Given the description of an element on the screen output the (x, y) to click on. 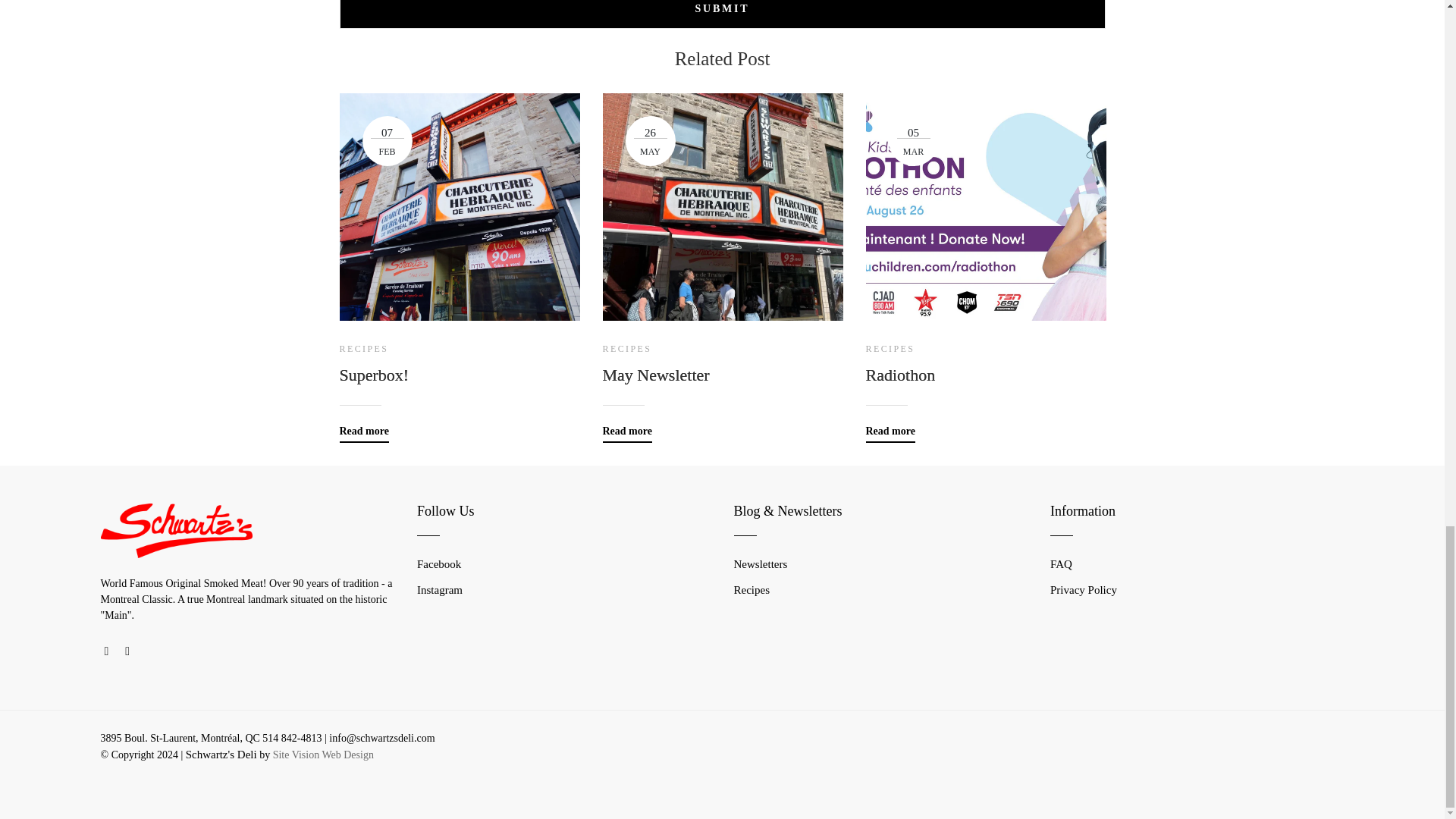
Submit (722, 14)
